Given the description of an element on the screen output the (x, y) to click on. 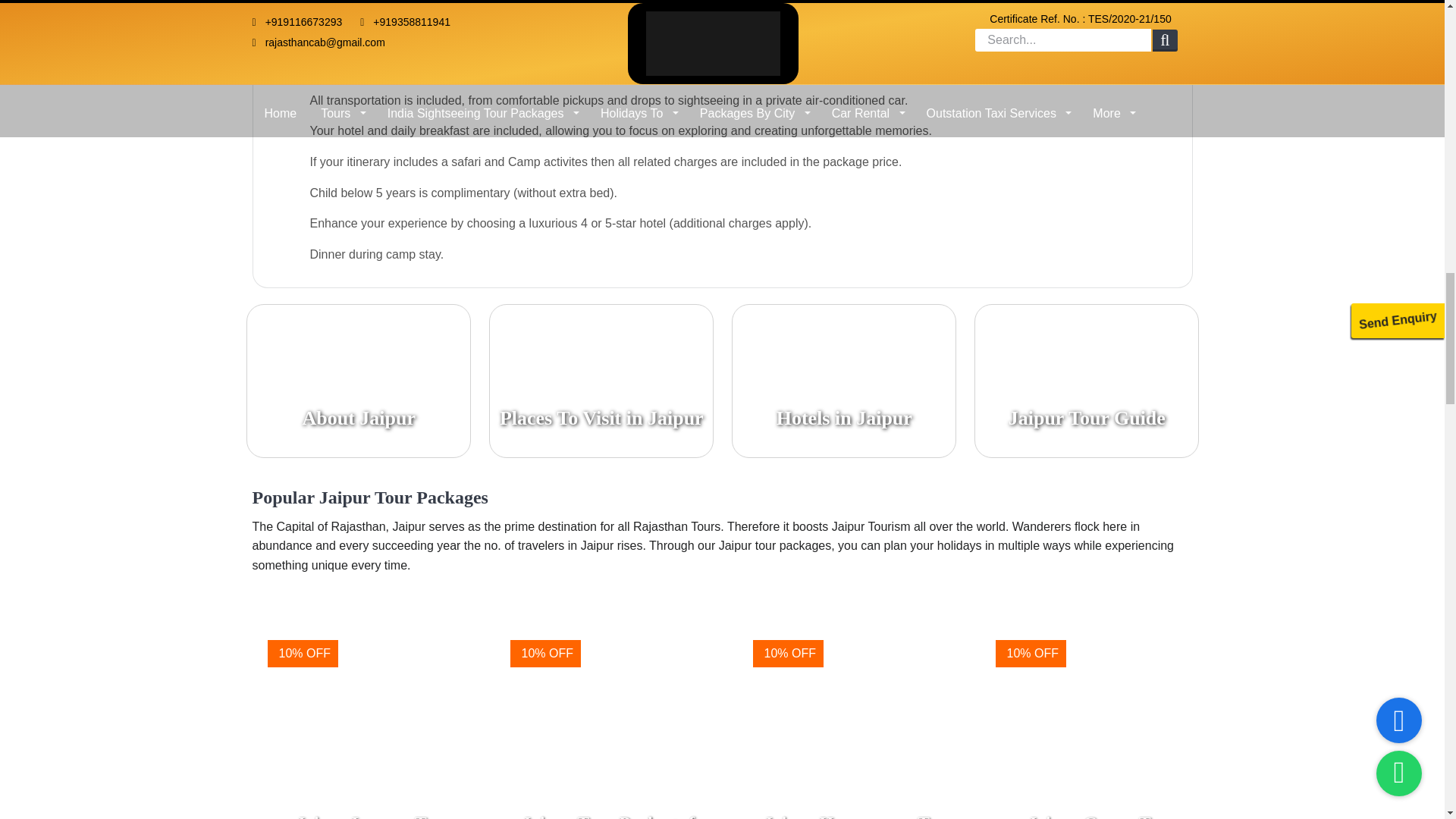
Rajasthan Desert Tour Package (857, 716)
Jaipur Tour Package for Family (615, 716)
Jaipur Luxury Tour Package (372, 716)
Jaipur Group Tour Package (1100, 716)
